Given the description of an element on the screen output the (x, y) to click on. 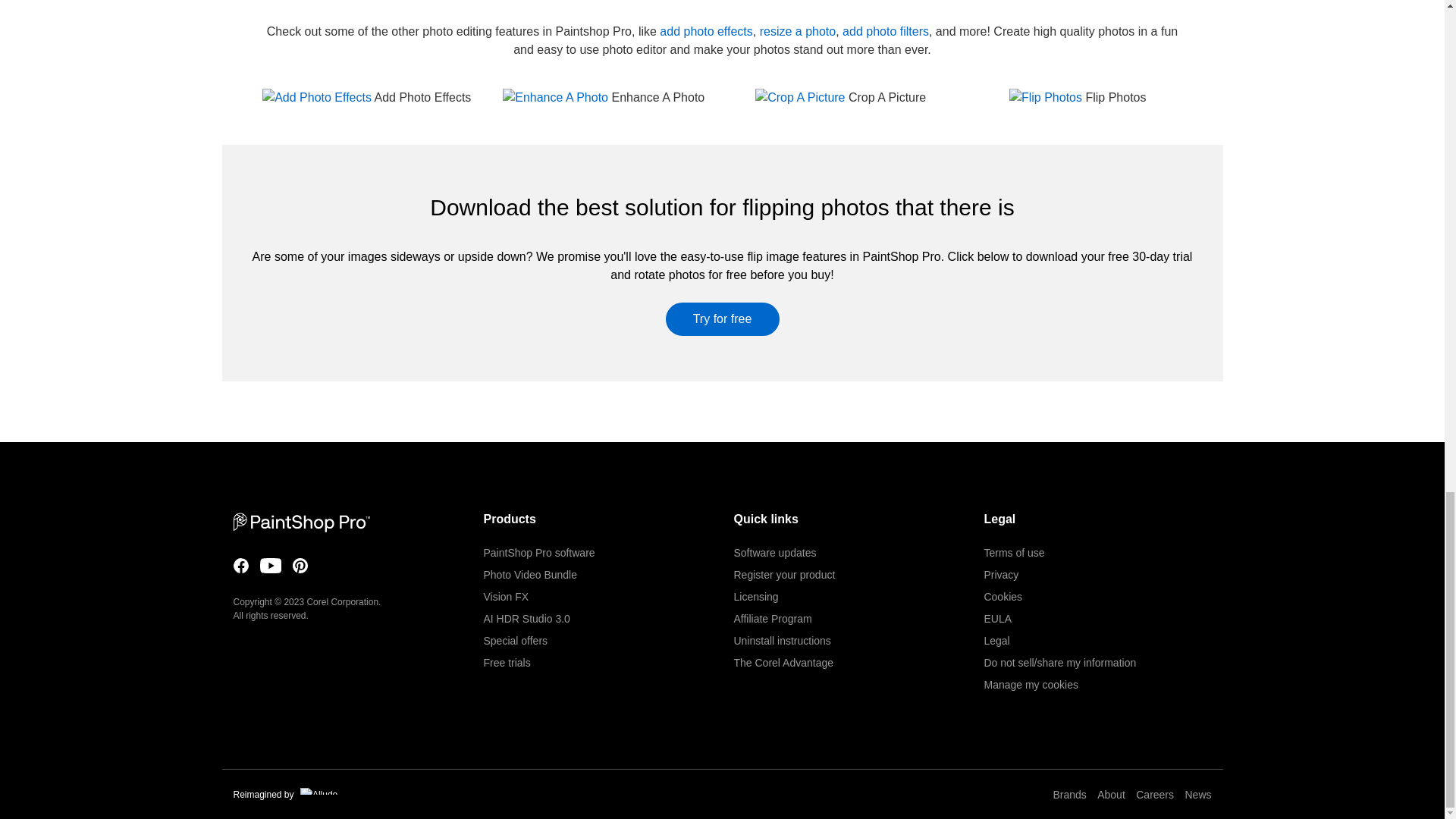
Alludo Facebook (240, 565)
Alludo (318, 790)
PaintShop Pro YouTube (270, 565)
PaintShop Pro (300, 522)
Corel Software Instagram (299, 565)
